Given the description of an element on the screen output the (x, y) to click on. 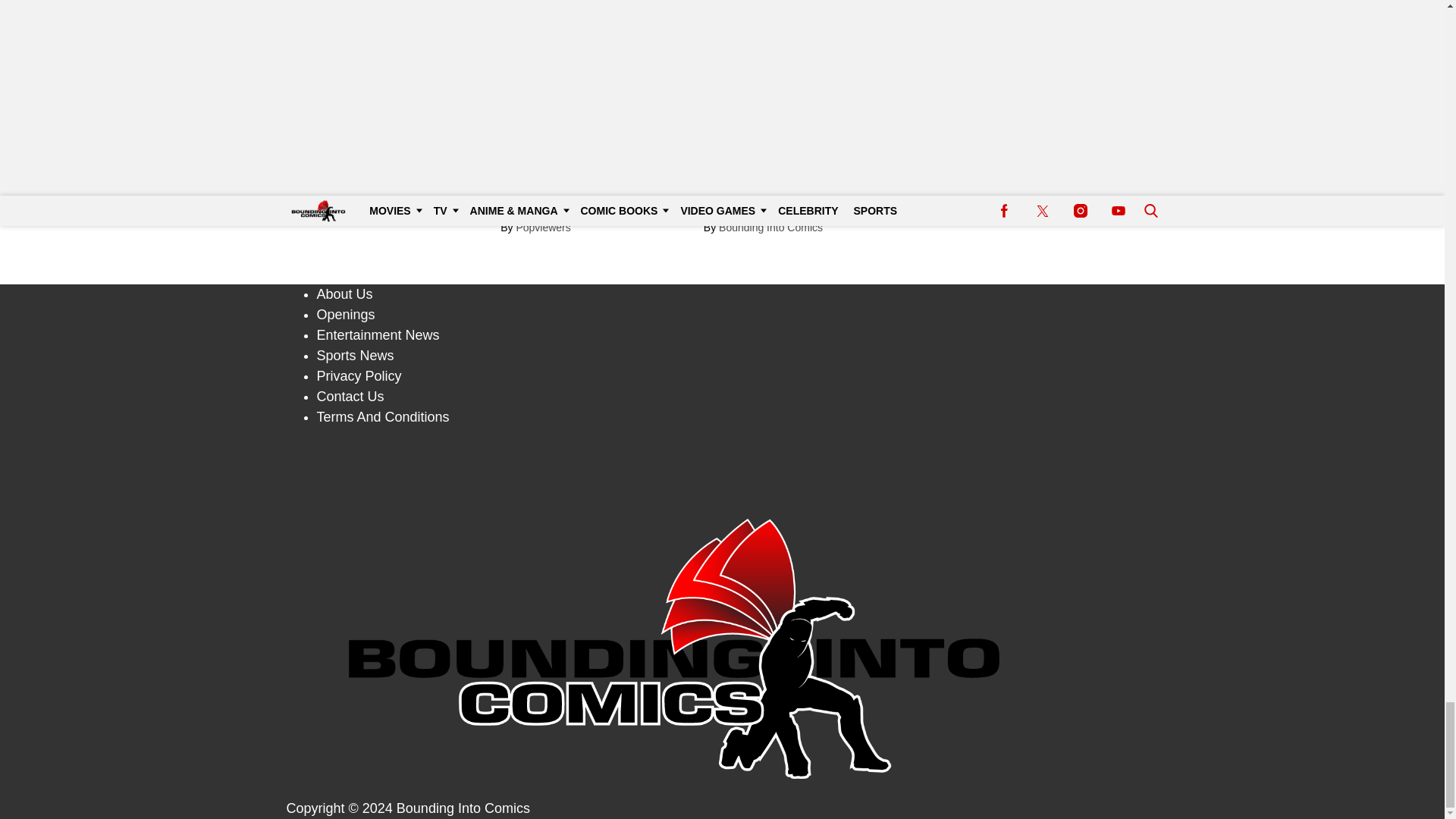
Follow us on Twitter (722, 464)
Follow us on Instagram (722, 480)
Follow us on Facebook (722, 446)
Subscribe to our YouTube channel (722, 498)
